Given the description of an element on the screen output the (x, y) to click on. 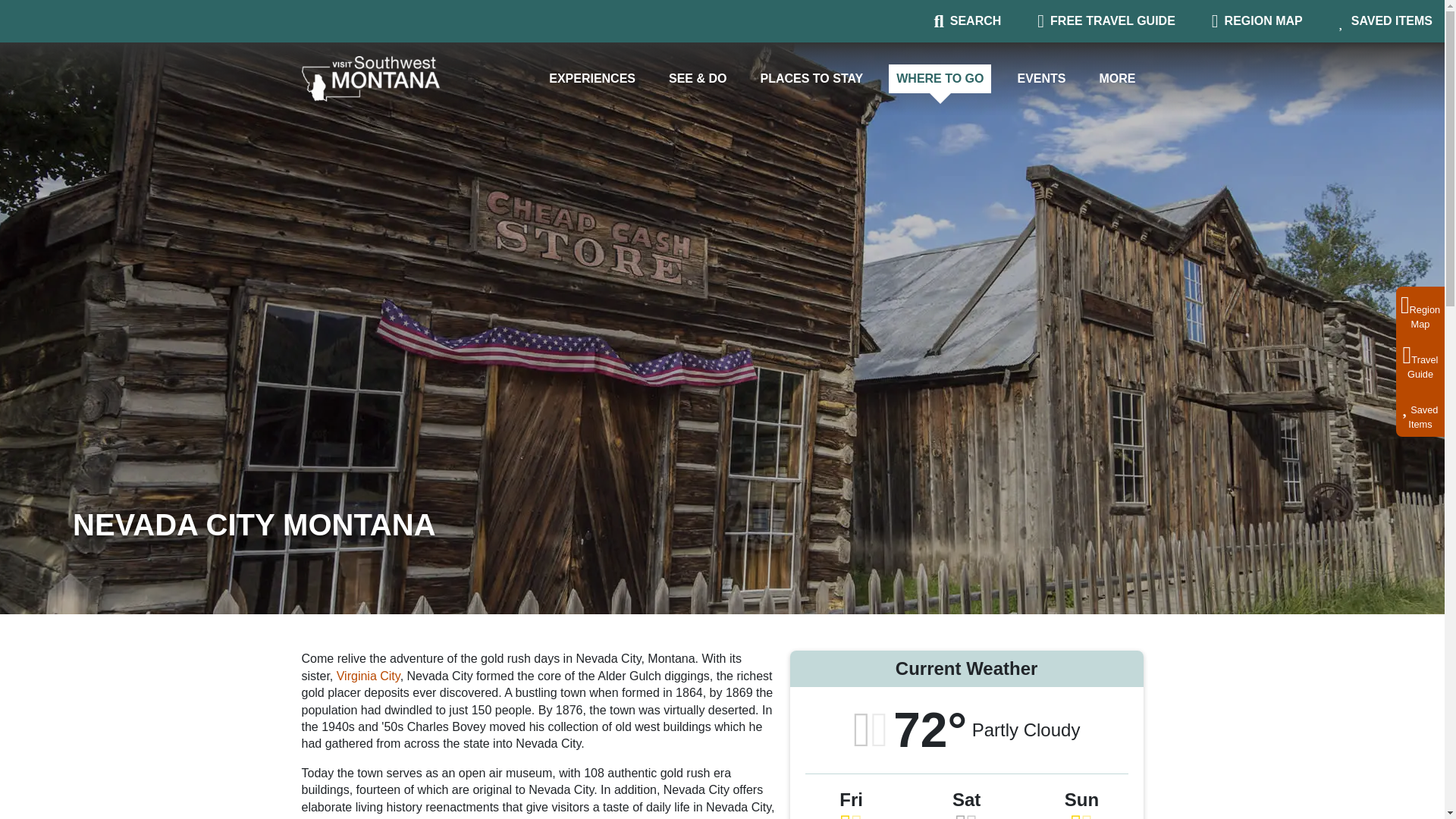
SAVED ITEMS (1385, 20)
PLACES TO STAY (1105, 20)
EXPERIENCES (1257, 20)
SEARCH (811, 78)
